Given the description of an element on the screen output the (x, y) to click on. 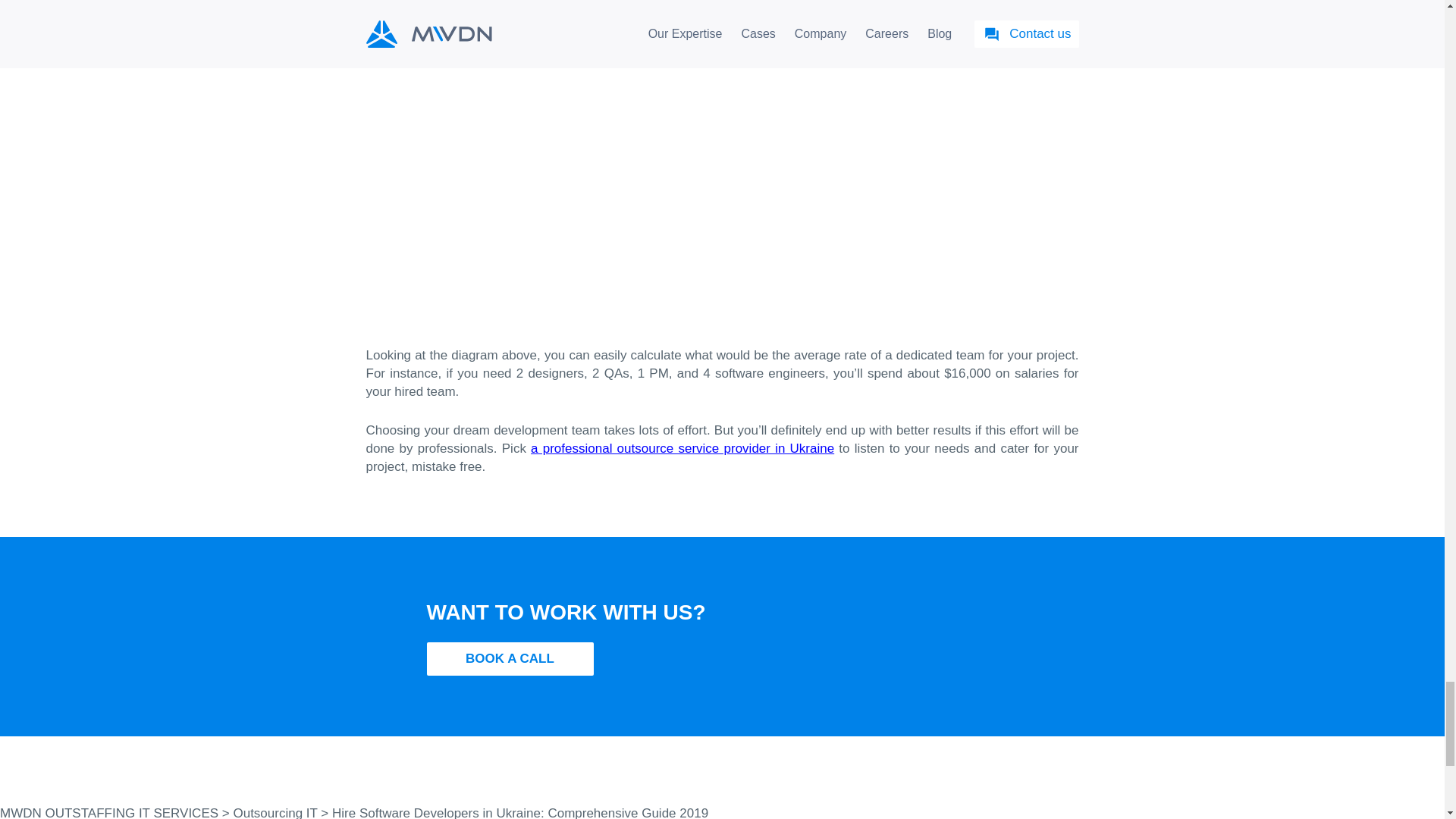
a professional outsource service provider in Ukraine (682, 448)
Outsourcing IT (274, 812)
BOOK A CALL (509, 658)
Go to the Outsourcing IT Category archives. (274, 812)
Go to MWDN OUTSTAFFING IT SERVICES. (109, 812)
MWDN OUTSTAFFING IT SERVICES (109, 812)
